Given the description of an element on the screen output the (x, y) to click on. 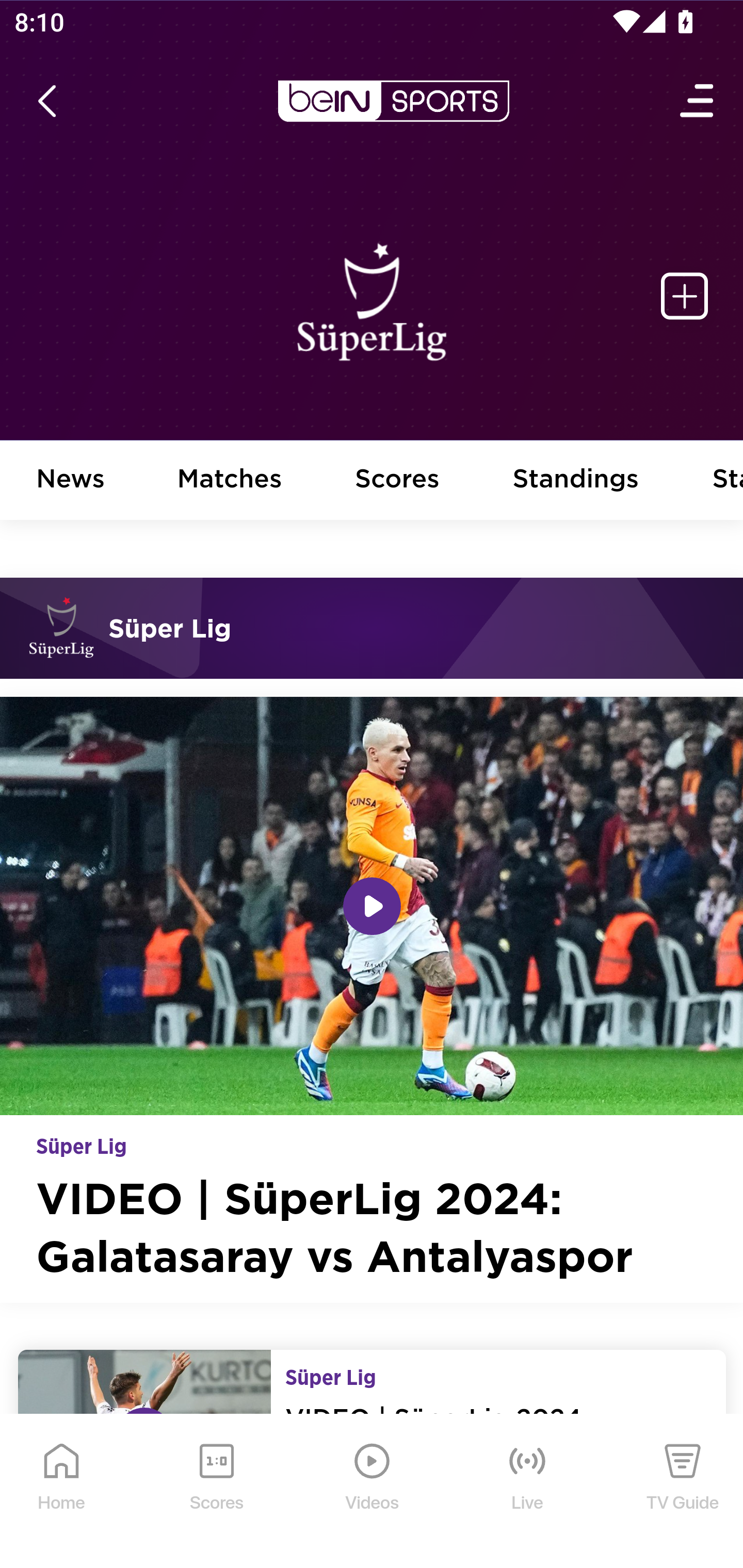
en-us?platform=mobile_android bein logo white (392, 101)
icon back (46, 101)
Open Menu Icon (697, 101)
News (70, 480)
Matches (229, 480)
Scores (397, 480)
Standings (575, 480)
Home Home Icon Home (61, 1491)
Scores Scores Icon Scores (216, 1491)
Videos Videos Icon Videos (372, 1491)
TV Guide TV Guide Icon TV Guide (682, 1491)
